Given the description of an element on the screen output the (x, y) to click on. 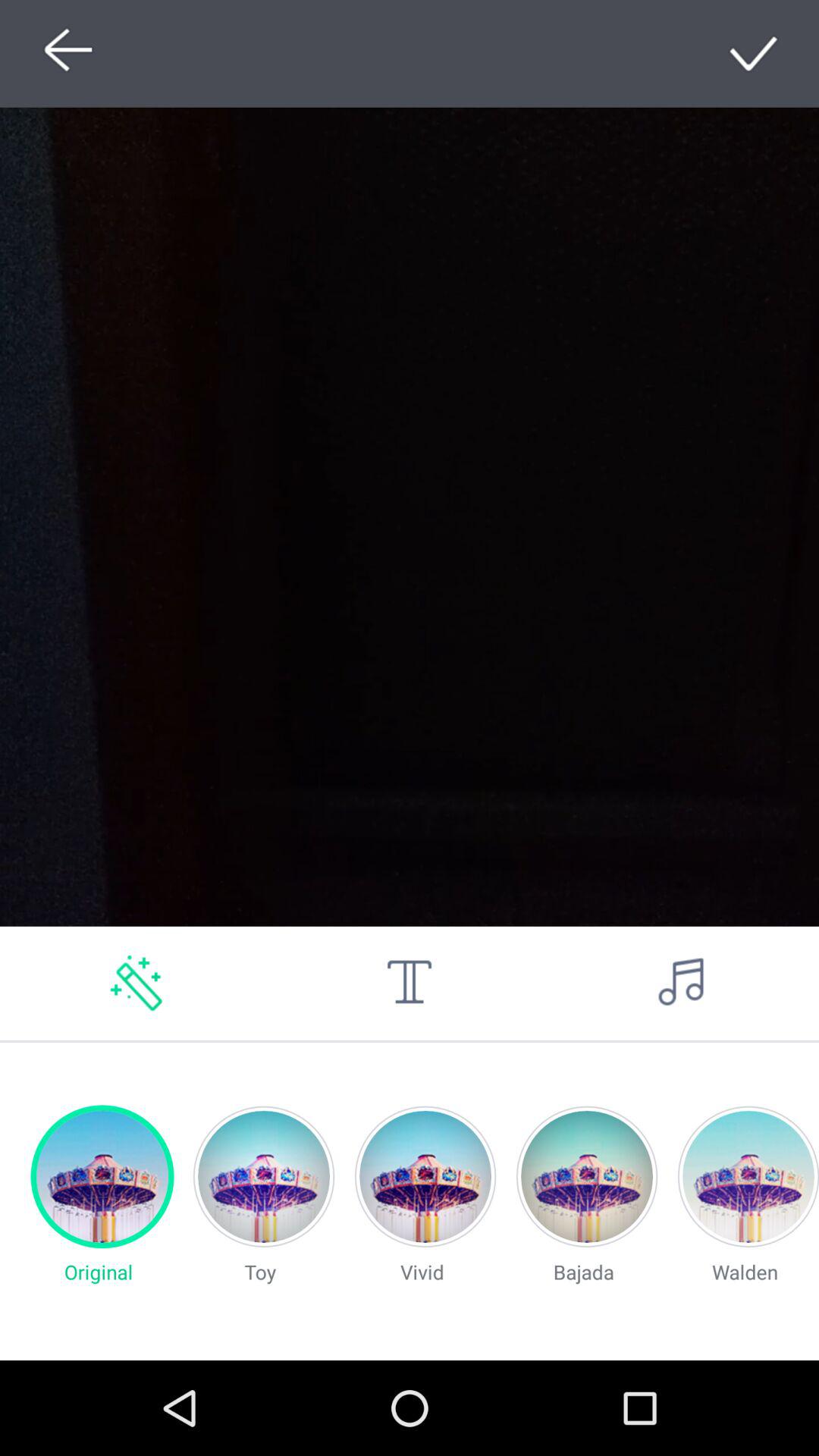
toggle music option (682, 983)
